Given the description of an element on the screen output the (x, y) to click on. 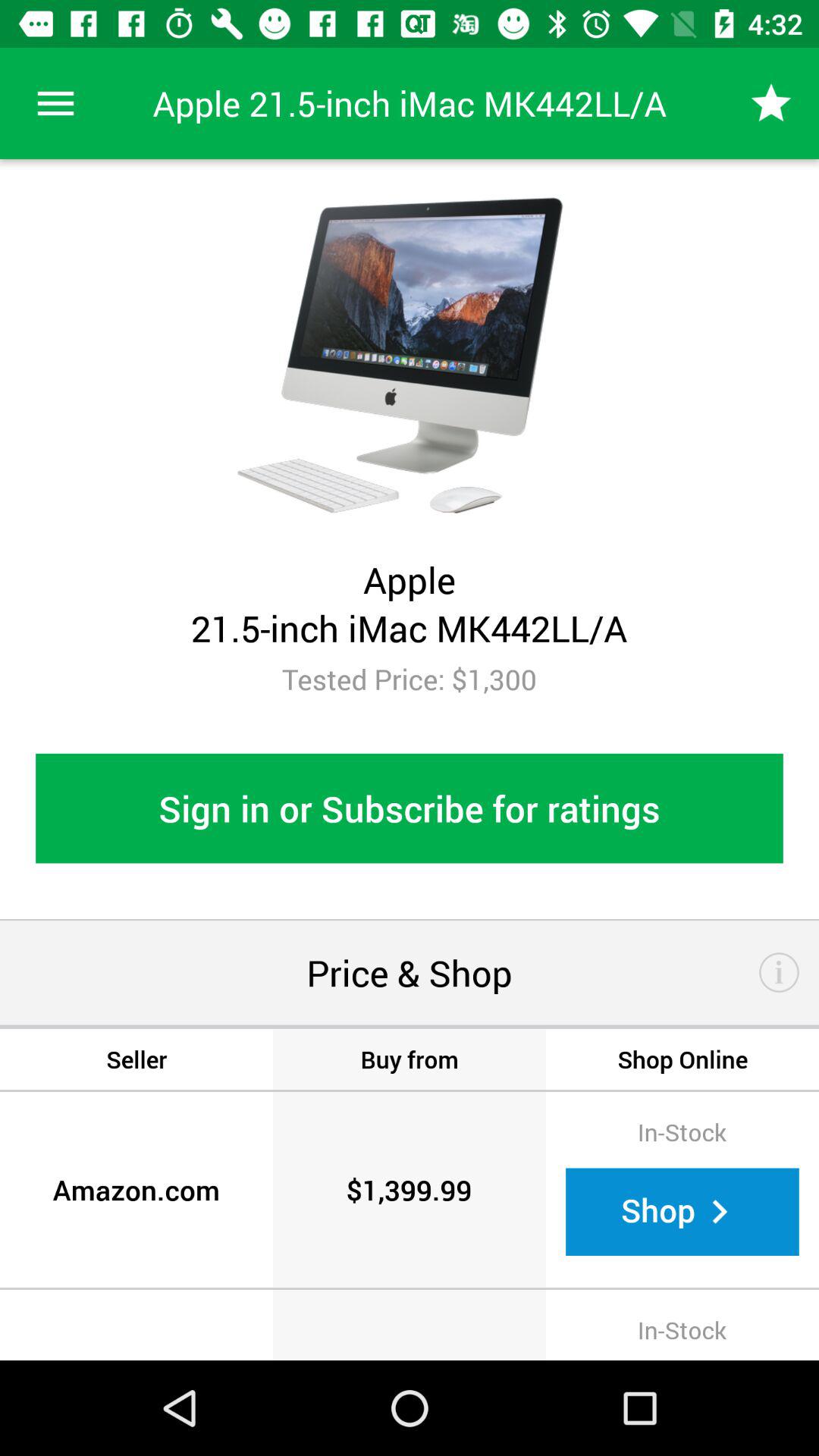
choose icon at the top left corner (55, 103)
